Given the description of an element on the screen output the (x, y) to click on. 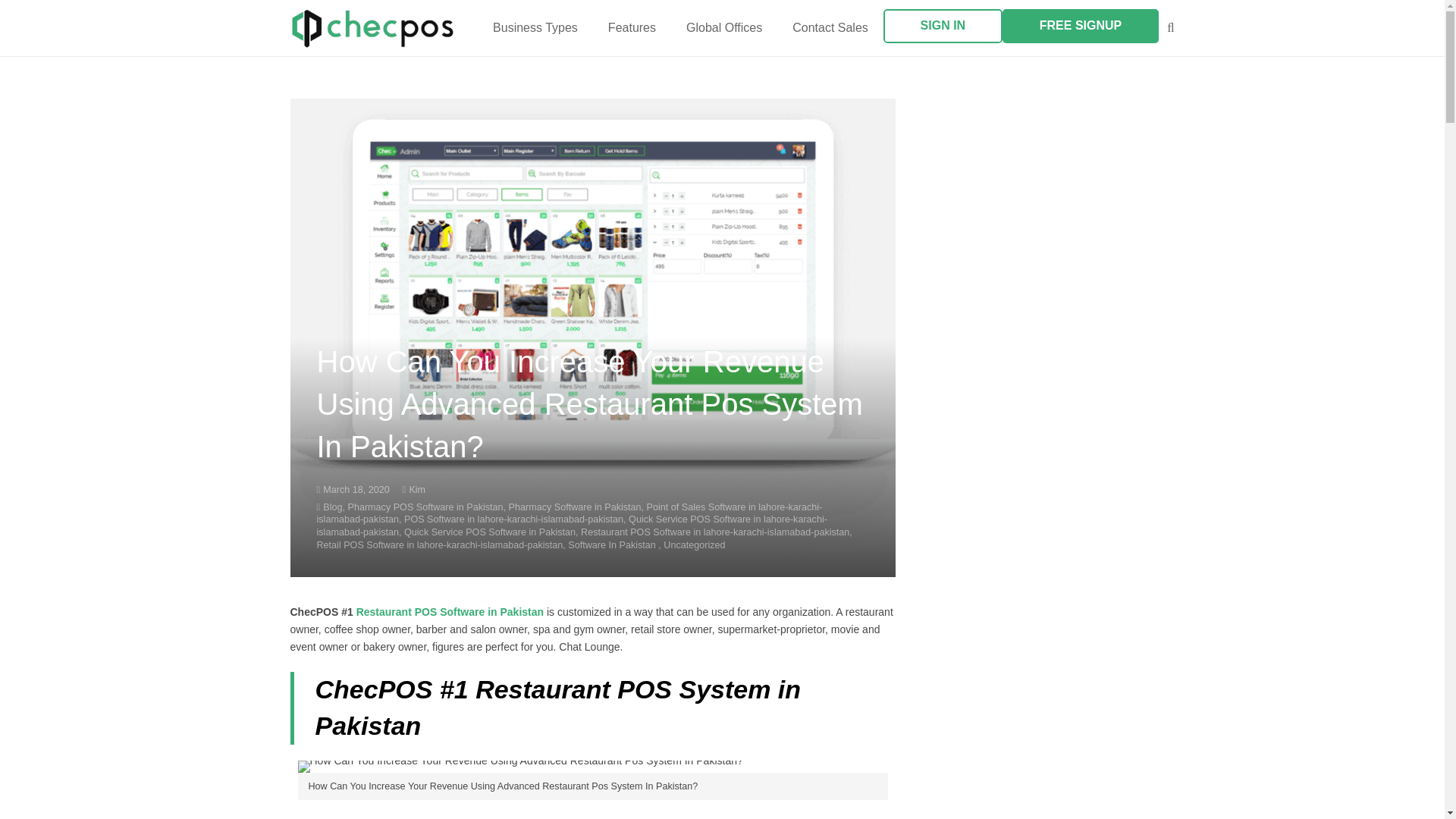
Business Types (534, 27)
Pharmacy POS Software in Pakistan (425, 507)
Quick Service POS Software in Pakistan (489, 532)
Restaurant POS Software in lahore-karachi-islamabad-pakistan (714, 532)
Global Offices (724, 27)
Blog (332, 507)
Kim (417, 489)
Features (631, 27)
Pharmacy Software in Pakistan (575, 507)
